Given the description of an element on the screen output the (x, y) to click on. 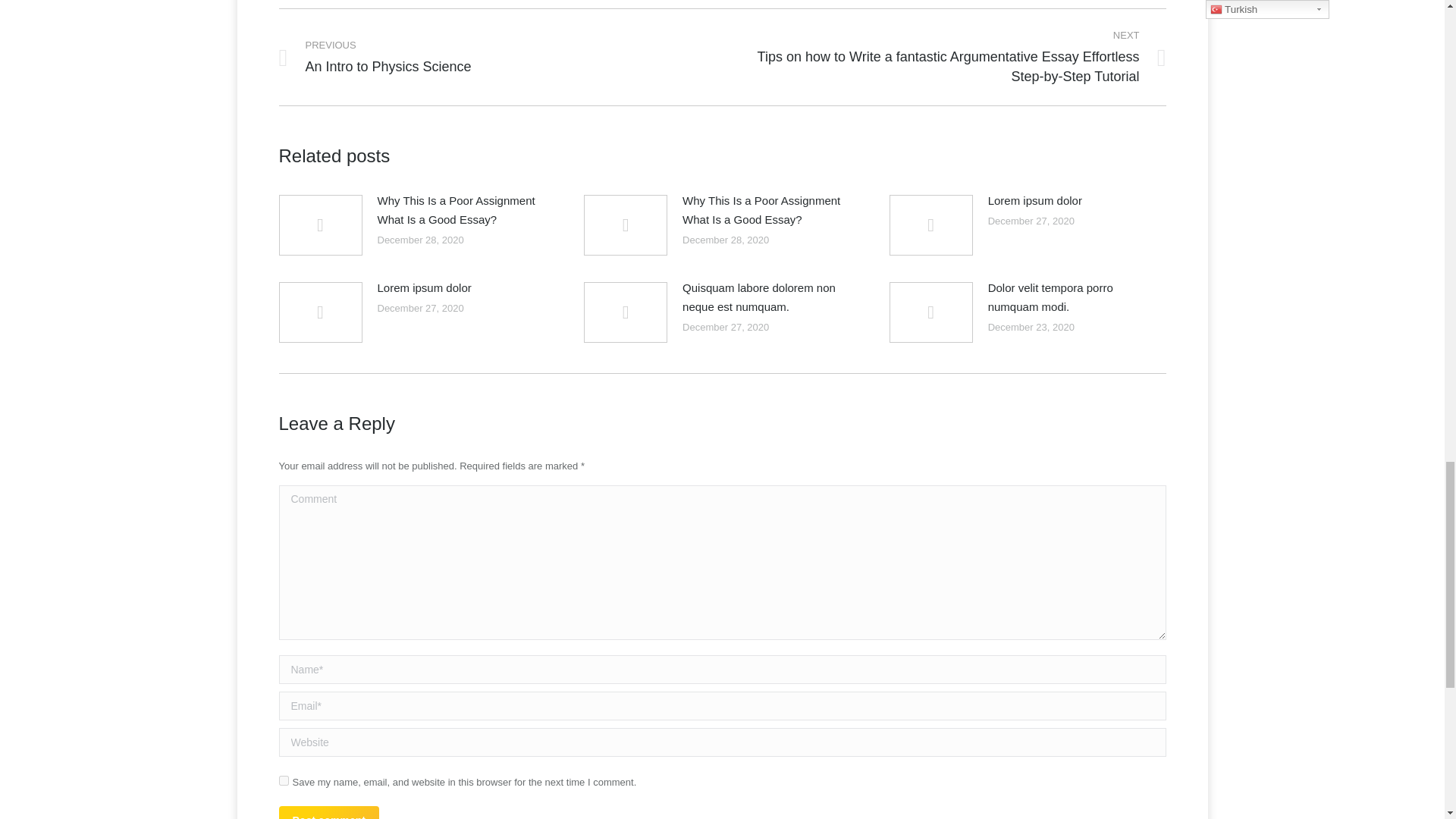
yes (283, 780)
Why This Is a Poor Assignment What Is a Good Essay? (766, 209)
Why This Is a Poor Assignment What Is a Good Essay? (462, 209)
Lorem ipsum dolor (489, 56)
